Given the description of an element on the screen output the (x, y) to click on. 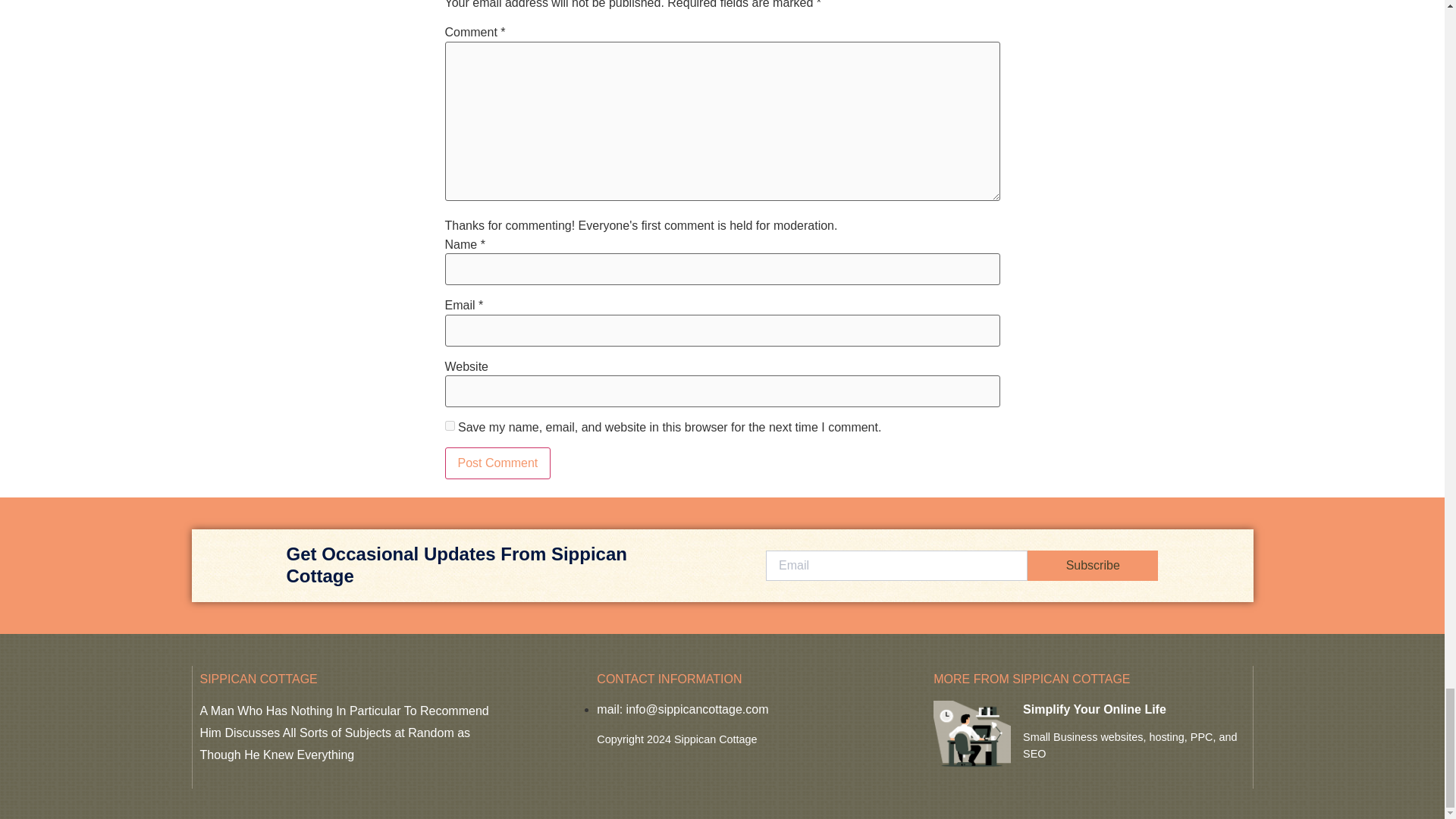
Post Comment (497, 463)
yes (449, 425)
